Given the description of an element on the screen output the (x, y) to click on. 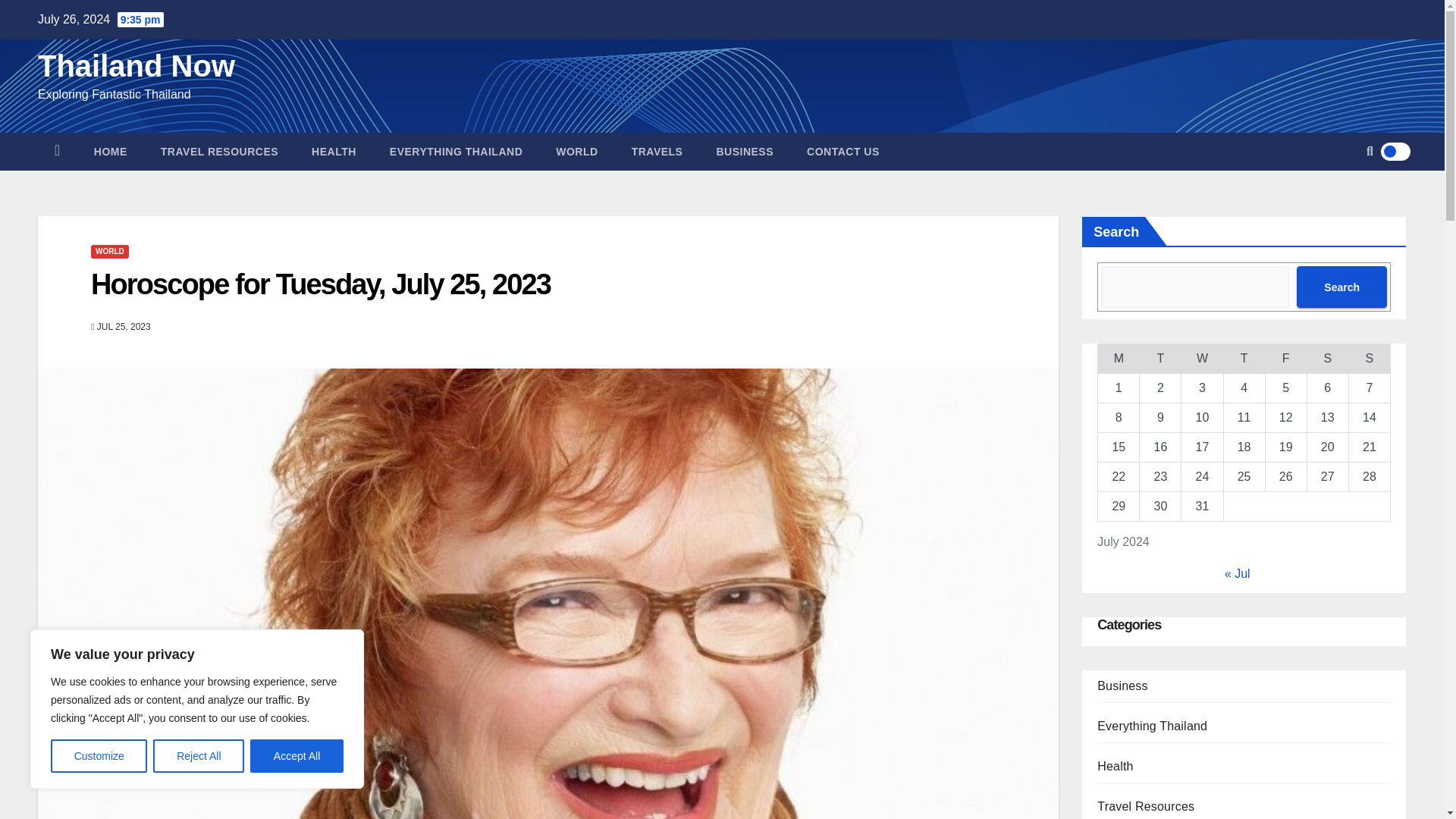
Travels (657, 151)
BUSINESS (744, 151)
Travel Resources (219, 151)
HEALTH (333, 151)
HOME (110, 151)
Reject All (198, 756)
Home (57, 151)
TRAVELS (657, 151)
CONTACT US (843, 151)
WORLD (109, 251)
Thailand Now (135, 65)
Customize (98, 756)
Horoscope for Tuesday, July 25, 2023 (320, 284)
WORLD (576, 151)
TRAVEL RESOURCES (219, 151)
